Given the description of an element on the screen output the (x, y) to click on. 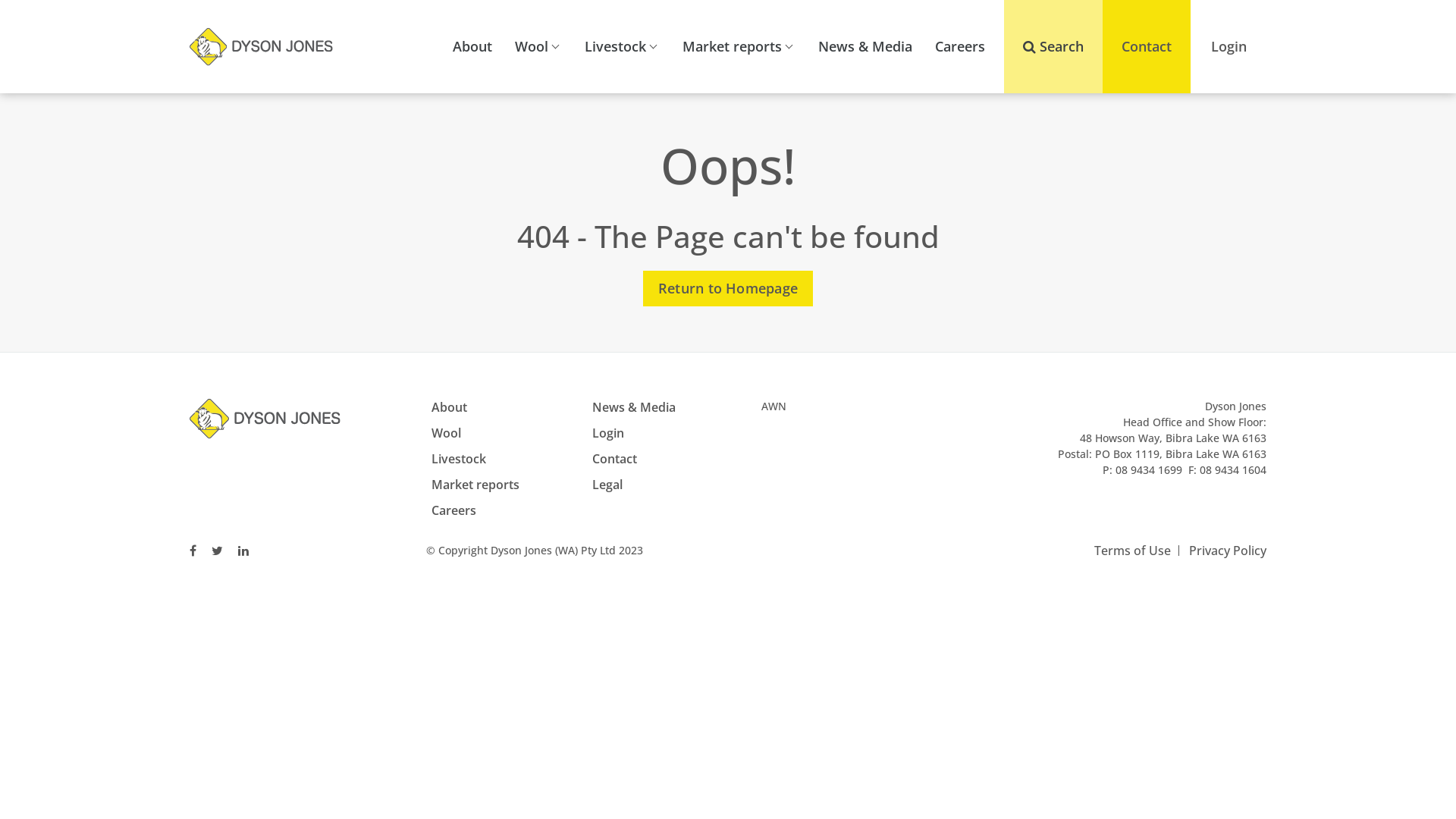
Wool Element type: text (537, 46)
Contact Element type: text (1146, 46)
Careers Element type: text (960, 46)
AWN Element type: text (773, 405)
Careers Element type: text (453, 510)
News & Media Element type: text (865, 46)
Terms of Use Element type: text (1132, 550)
Livestock Element type: text (621, 46)
Market reports Element type: text (475, 484)
Contact Element type: text (613, 458)
News & Media Element type: text (632, 406)
About Element type: text (472, 46)
Search Element type: text (1053, 46)
Return to Homepage Element type: text (727, 288)
About Element type: text (449, 406)
Login Element type: text (1228, 46)
Wool Element type: text (446, 432)
Privacy Policy Element type: text (1227, 550)
Login Element type: text (607, 432)
Market reports Element type: text (738, 46)
Livestock Element type: text (458, 458)
Legal Element type: text (606, 484)
